Given the description of an element on the screen output the (x, y) to click on. 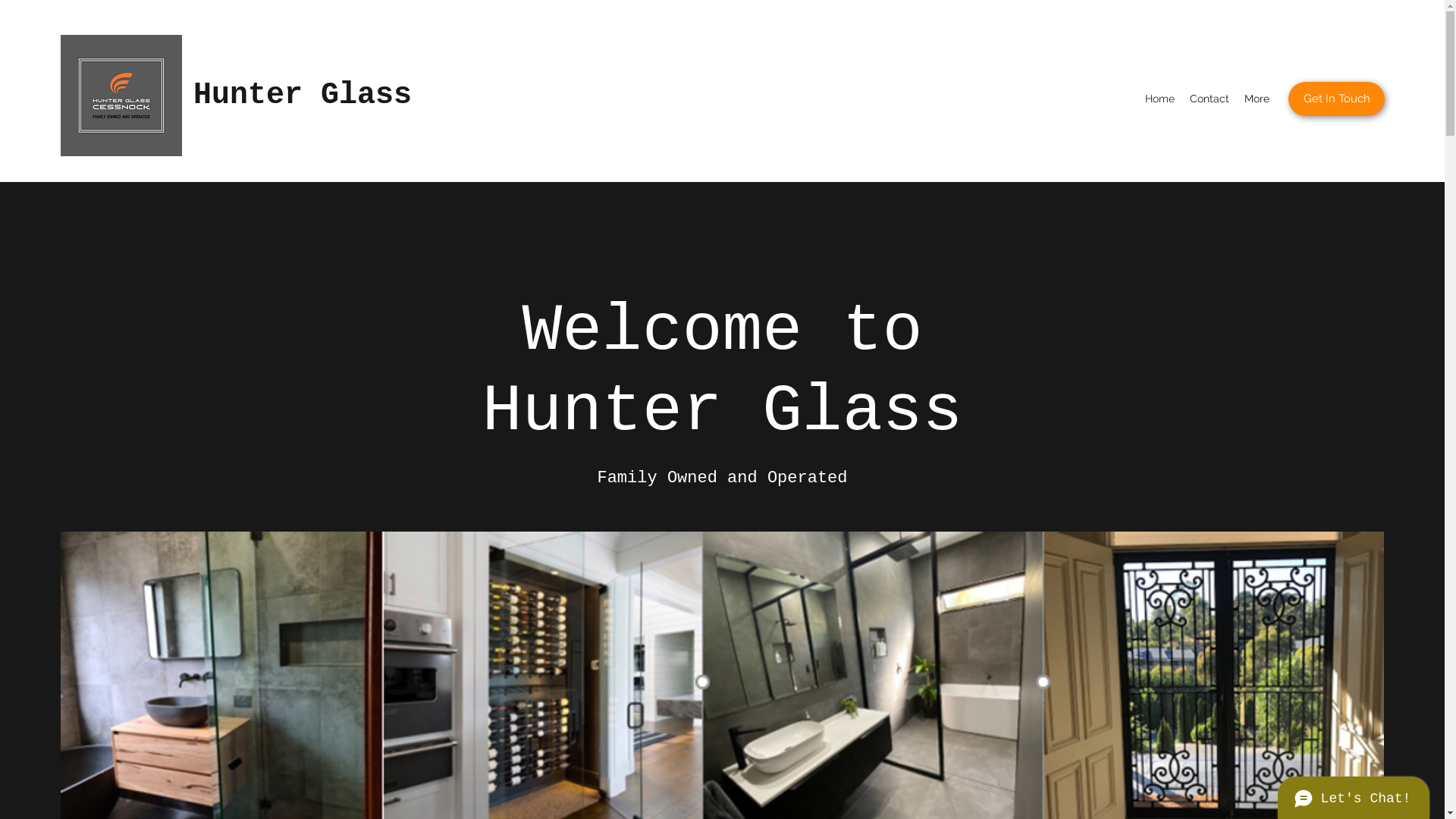
Hunter Glass Element type: text (302, 95)
Contact Element type: text (1209, 98)
Home Element type: text (1159, 98)
